Given the description of an element on the screen output the (x, y) to click on. 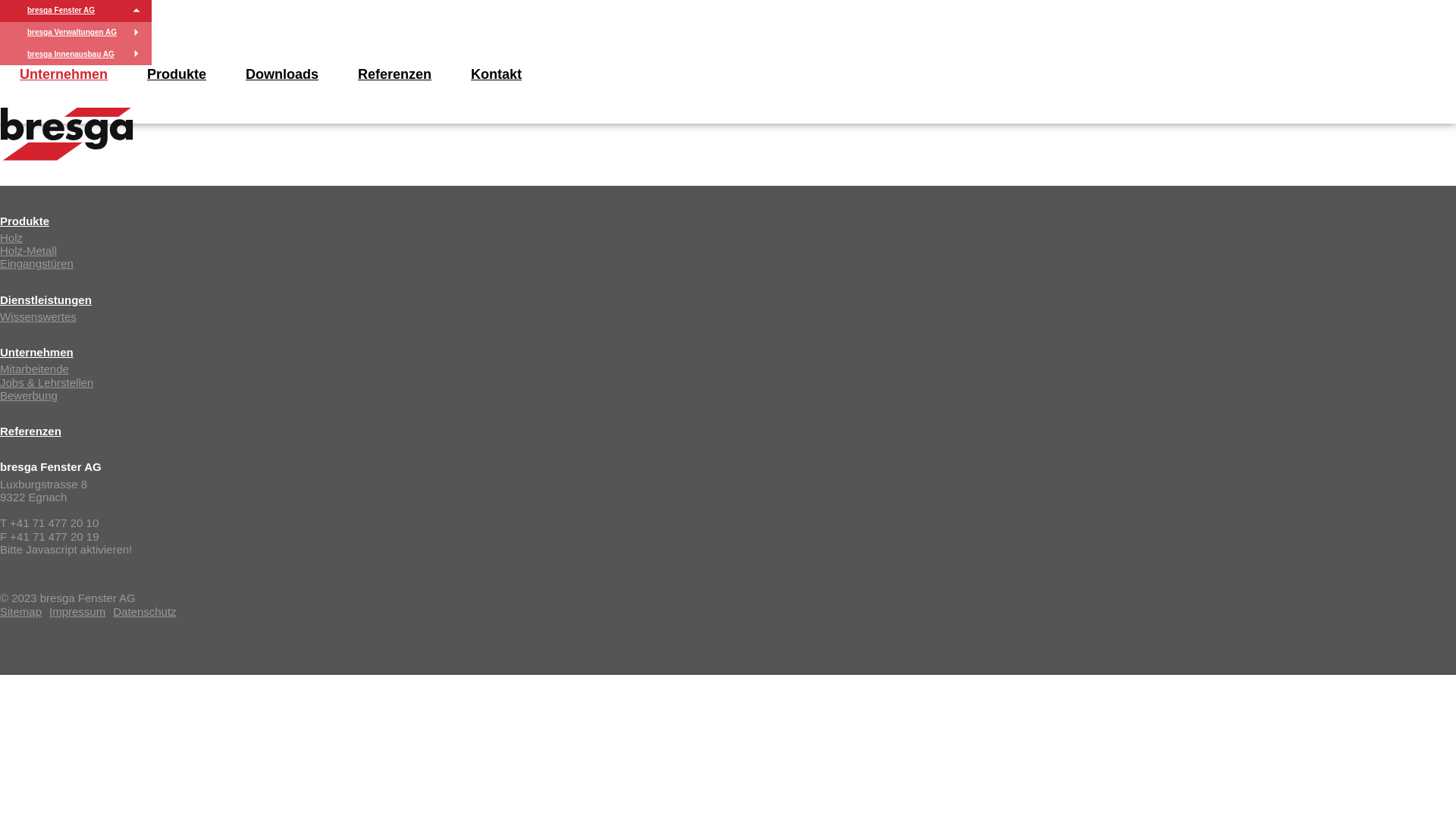
Downloads Element type: text (281, 73)
Unternehmen Element type: text (36, 351)
Kontakt Element type: text (495, 73)
Impressum Element type: text (77, 611)
Jobs & Lehrstellen Element type: text (46, 382)
Holz-Metall Element type: text (28, 250)
Sitemap Element type: text (20, 611)
bresga Innenausbau AG Element type: text (70, 54)
Unternehmen Element type: text (63, 73)
Produkte Element type: text (24, 219)
Referenzen Element type: text (394, 73)
Bewerbung Element type: text (28, 395)
fenster Element type: hover (66, 133)
Wissenswertes Element type: text (38, 316)
Holz Element type: text (11, 237)
Dienstleistungen Element type: text (45, 298)
Datenschutz Element type: text (143, 611)
Referenzen Element type: text (30, 430)
bresga Verwaltungen AG Element type: text (71, 32)
bresga Fenster AG Element type: text (60, 10)
Mitarbeitende Element type: text (34, 368)
Produkte Element type: text (176, 73)
